Given the description of an element on the screen output the (x, y) to click on. 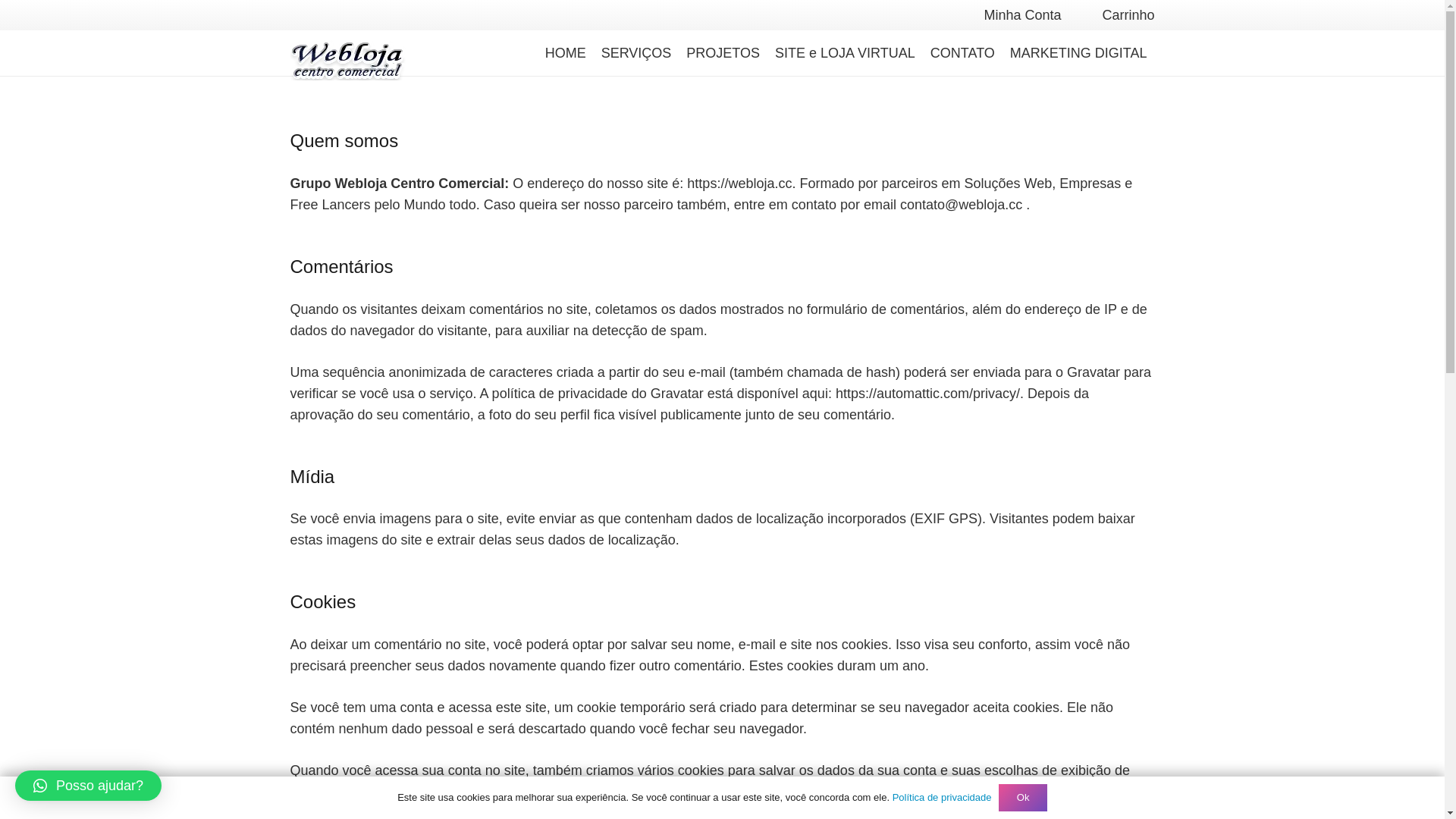
HOME Element type: text (565, 52)
Minha Conta Element type: text (1021, 14)
CONTATO Element type: text (962, 52)
Carrinho Element type: text (1127, 14)
MARKETING DIGITAL Element type: text (1078, 52)
Posso ajudar? Element type: text (88, 785)
Ok Element type: text (1022, 797)
SITE e LOJA VIRTUAL Element type: text (844, 52)
PROJETOS Element type: text (722, 52)
